Given the description of an element on the screen output the (x, y) to click on. 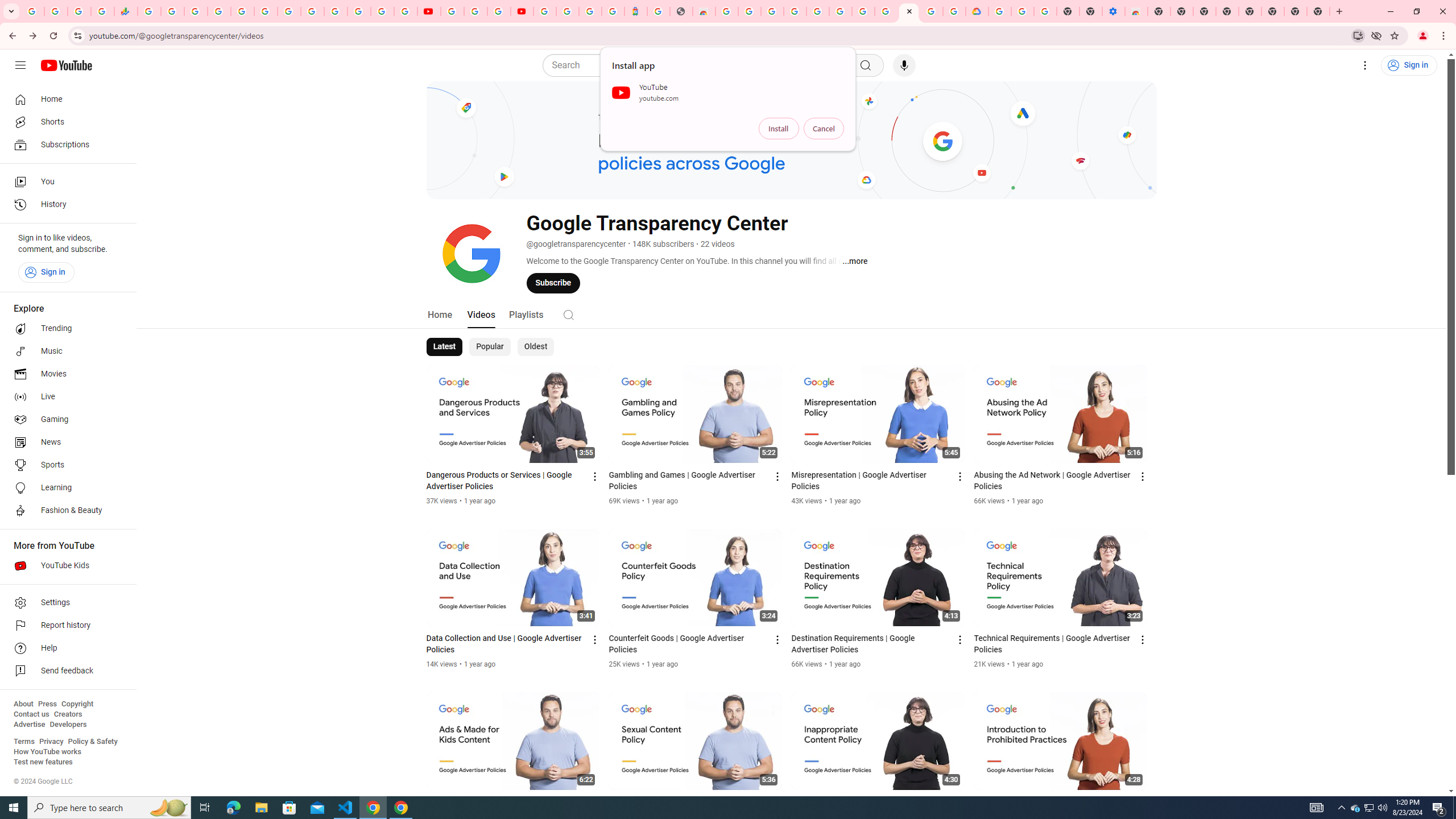
Send feedback (64, 671)
Install (778, 128)
Cancel (823, 128)
YouTube (428, 11)
Help (64, 648)
Contact us (31, 714)
Atour Hotel - Google hotels (635, 11)
Report history (64, 625)
Learning (64, 487)
Search with your voice (903, 65)
